Given the description of an element on the screen output the (x, y) to click on. 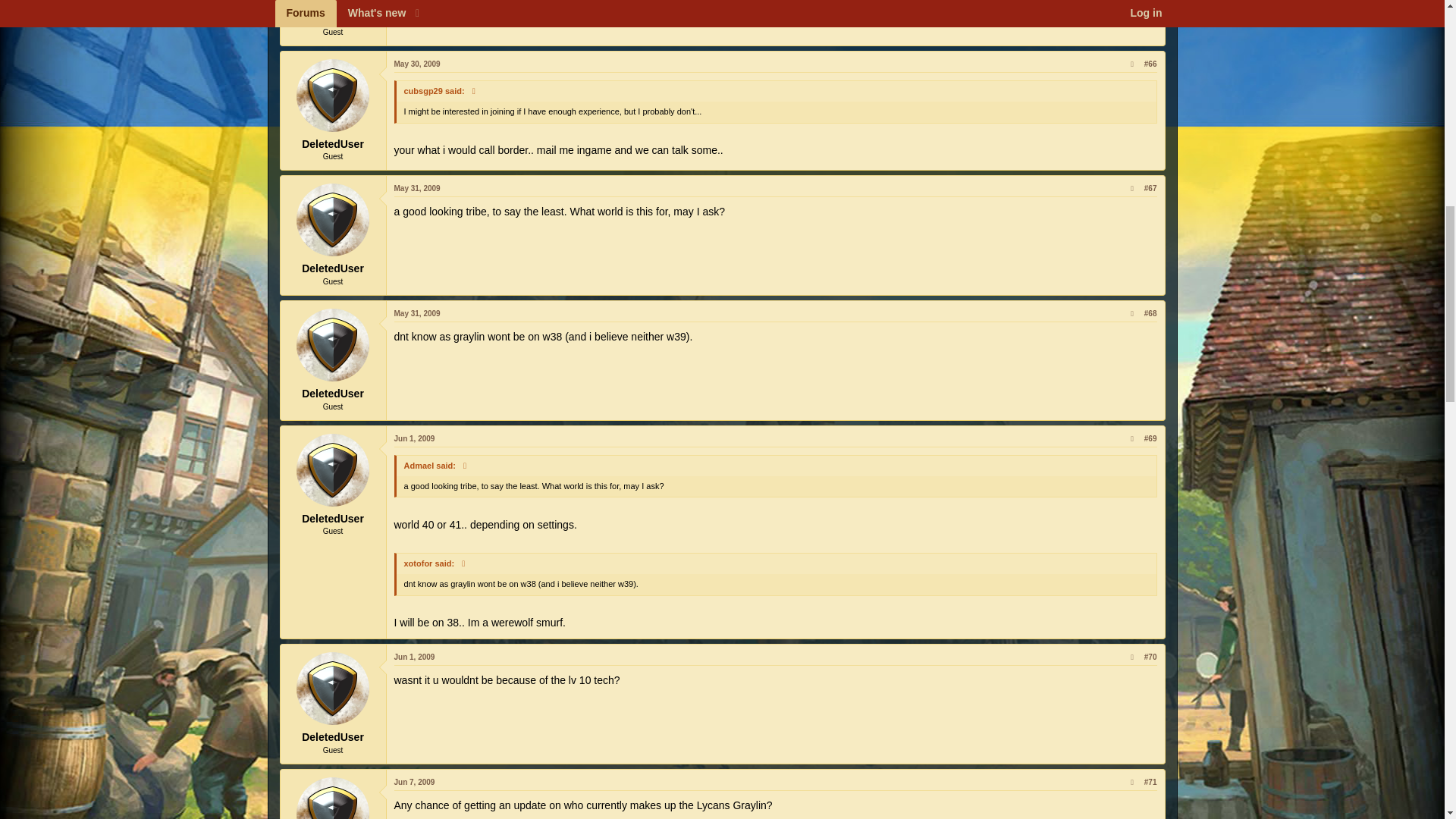
DeletedUser (333, 219)
DeletedUser (333, 94)
DeletedUser (333, 3)
May 30, 2009 at 11:46 PM (417, 63)
